Given the description of an element on the screen output the (x, y) to click on. 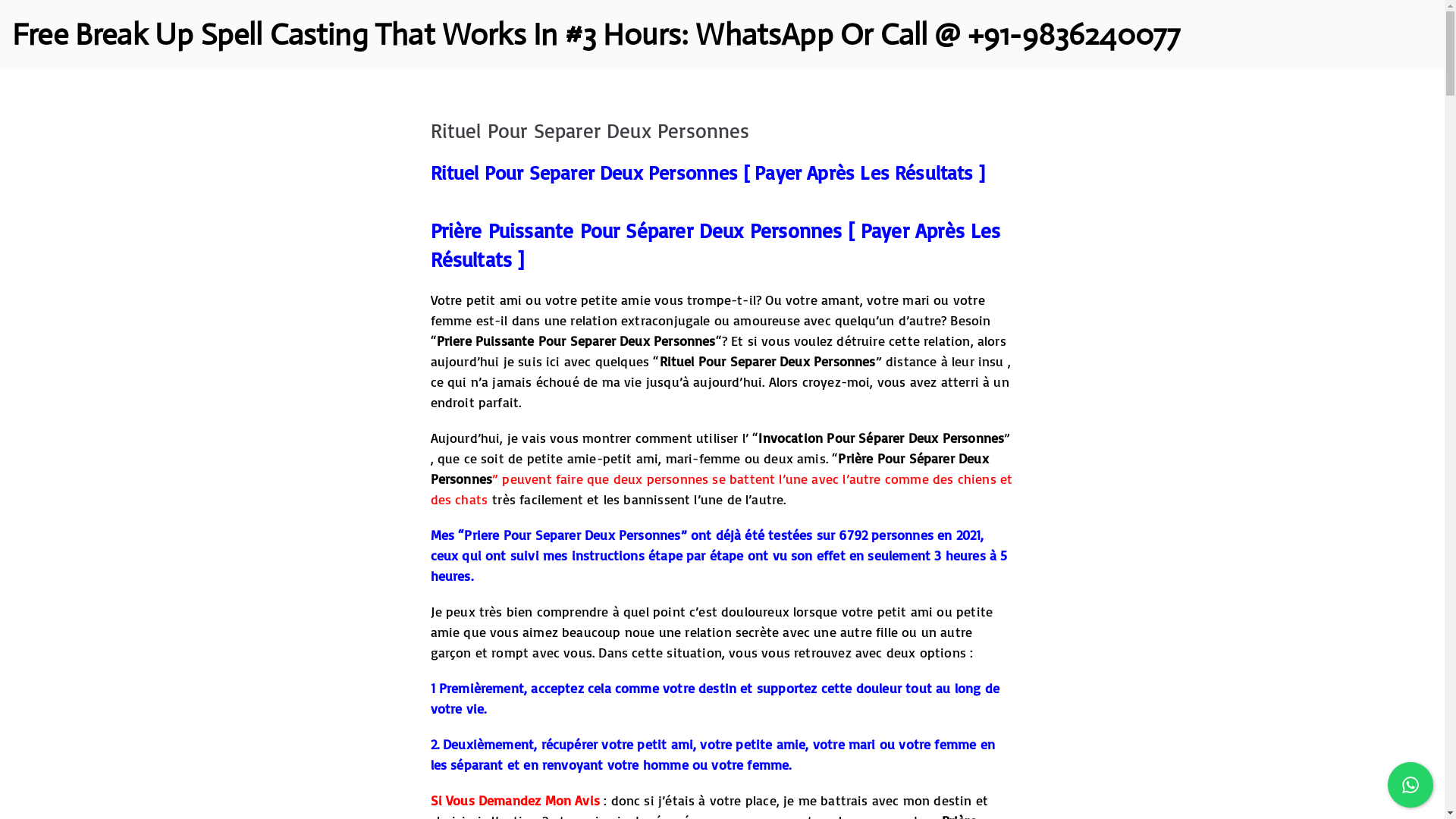
Priere Puissante Pour Separer Deux Personnes Element type: text (575, 340)
Rituel Pour Separer Deux Personnes Element type: text (584, 172)
